Given the description of an element on the screen output the (x, y) to click on. 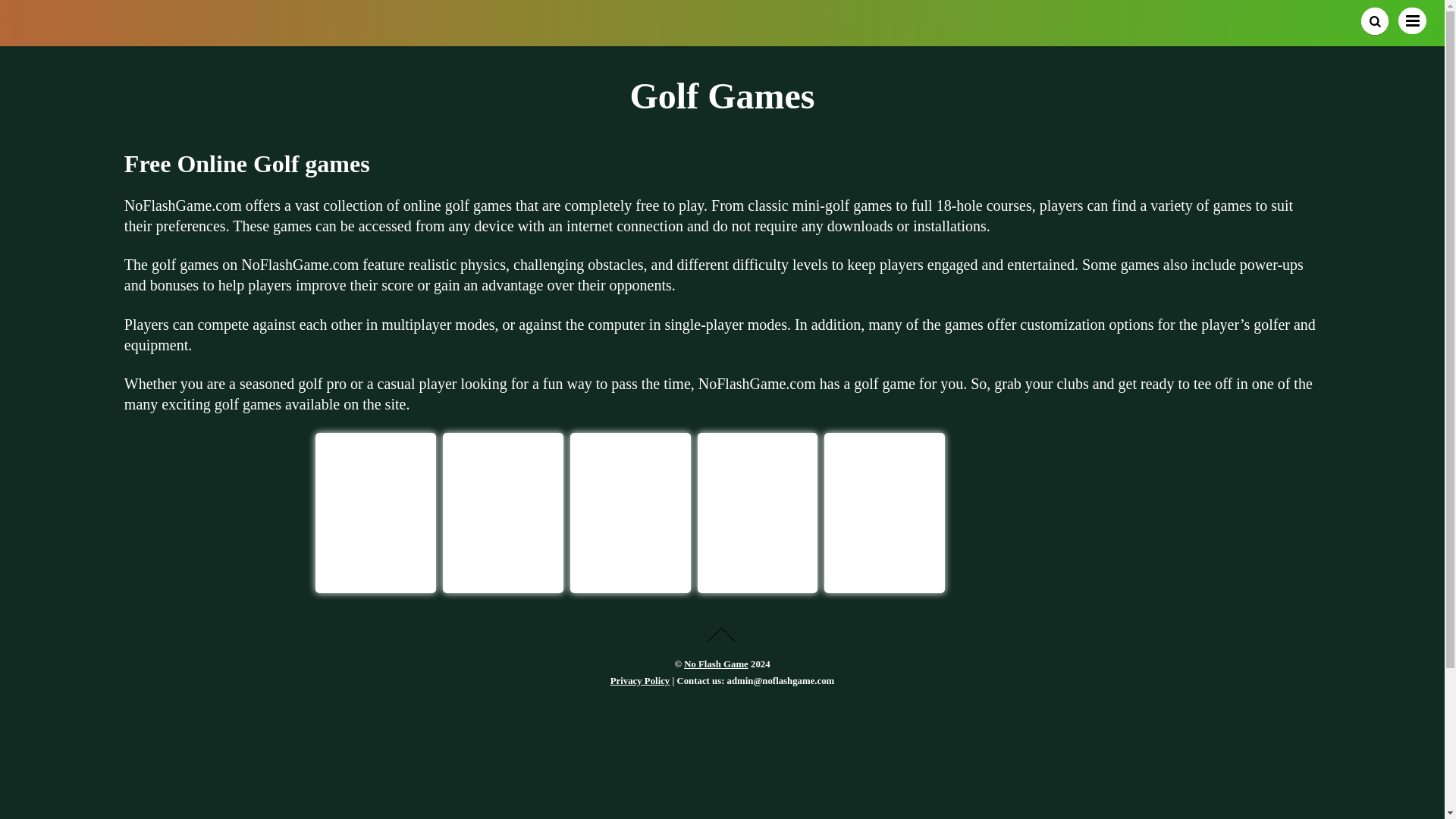
Adventure Golf (884, 568)
Superstar Golf (757, 568)
247 mini (630, 493)
18-goal-golf (502, 493)
No Flash Game (153, 29)
ag (884, 493)
golfffff (757, 493)
18 Goal Golf (502, 568)
No Flash Game (716, 664)
Privacy Policy (639, 680)
Search (1375, 21)
247 Minigolf (630, 568)
Wonderputt (375, 568)
Wonder Putt (375, 493)
